Given the description of an element on the screen output the (x, y) to click on. 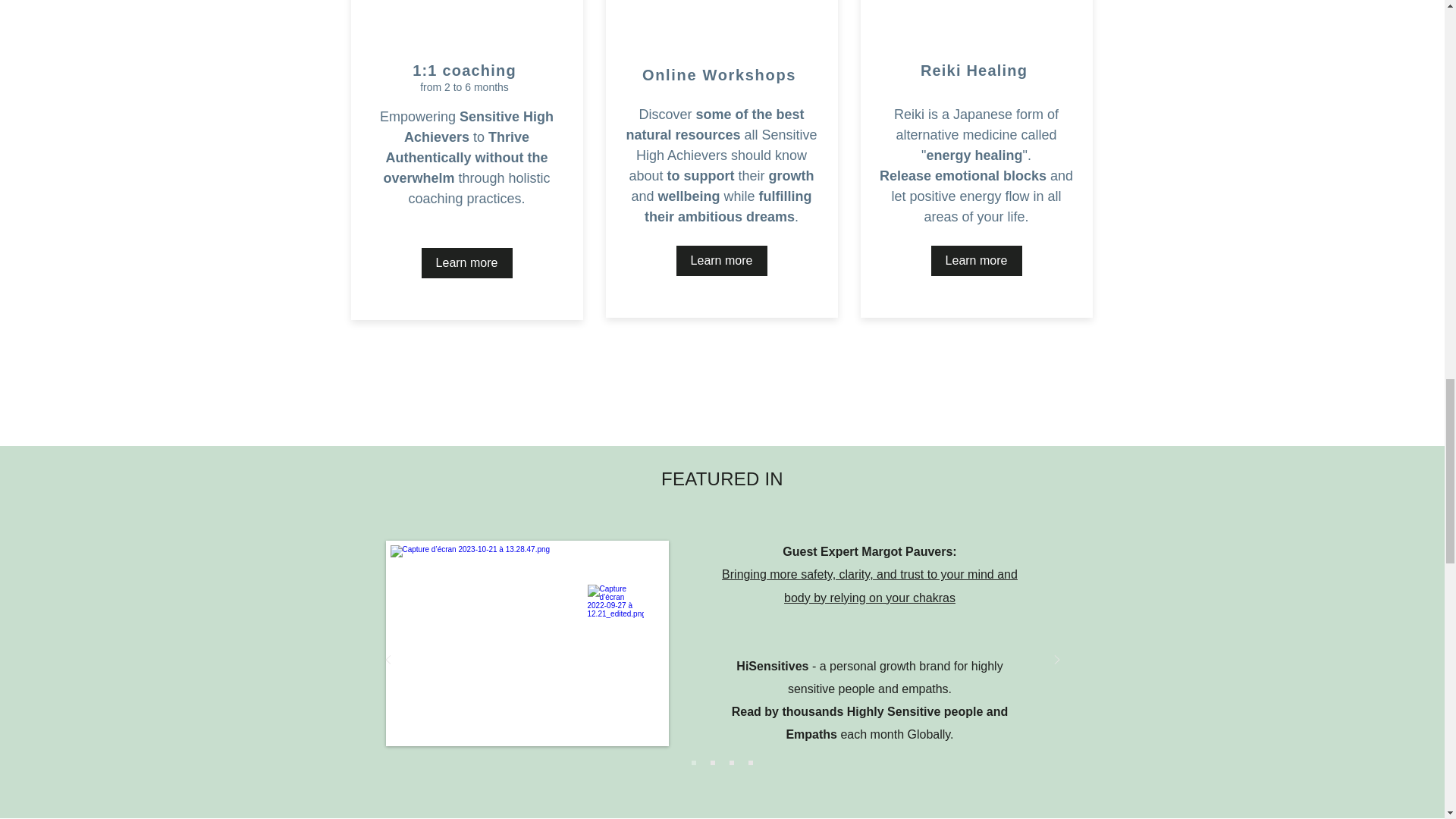
Learn more (976, 260)
Learn more (467, 263)
Learn more (722, 260)
